Given the description of an element on the screen output the (x, y) to click on. 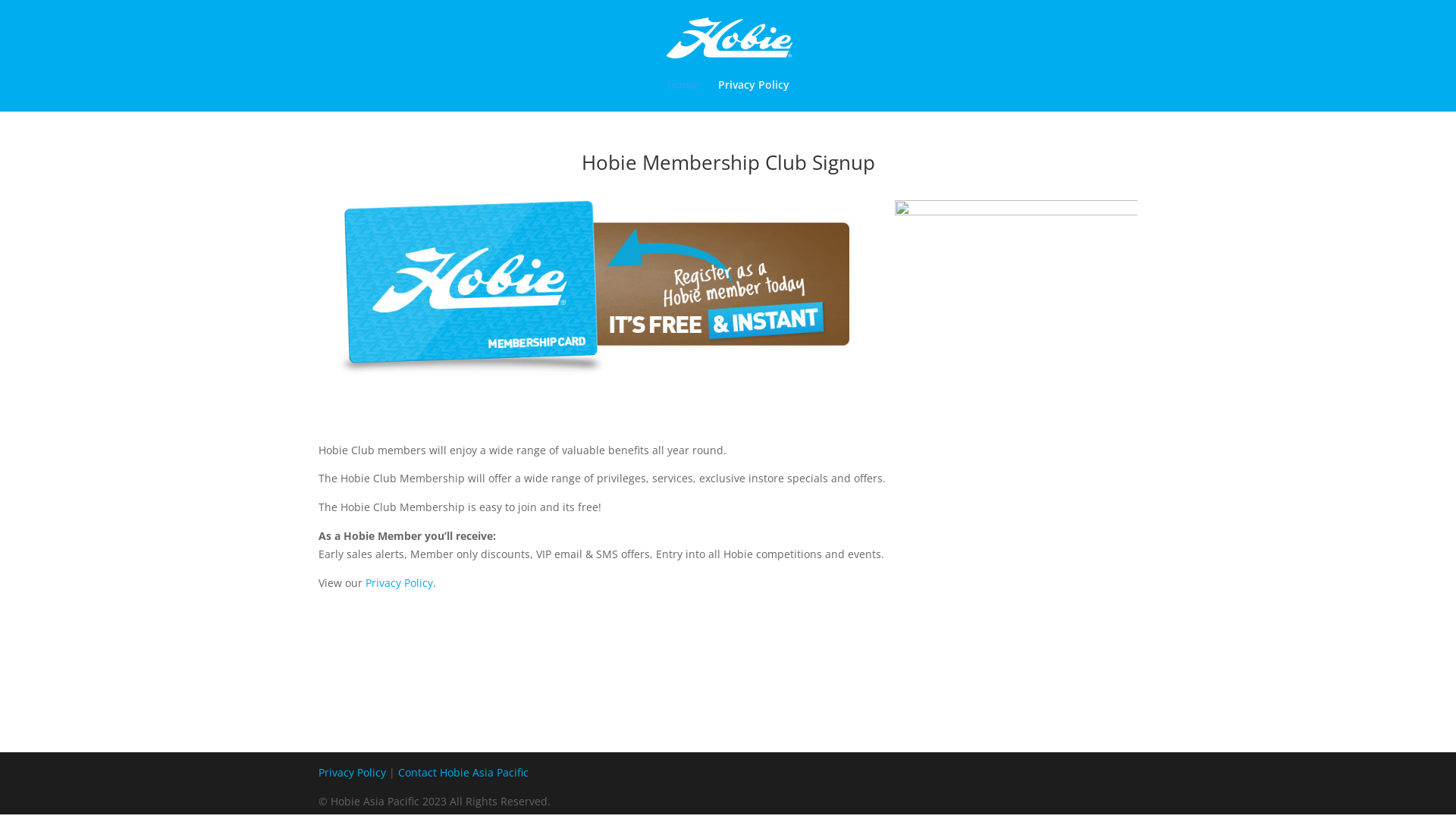
Contact Hobie Asia Pacific Element type: text (463, 772)
Privacy Policy Element type: text (351, 772)
Privacy Policy Element type: text (399, 582)
Home Element type: text (682, 95)
Privacy Policy Element type: text (752, 95)
